Given the description of an element on the screen output the (x, y) to click on. 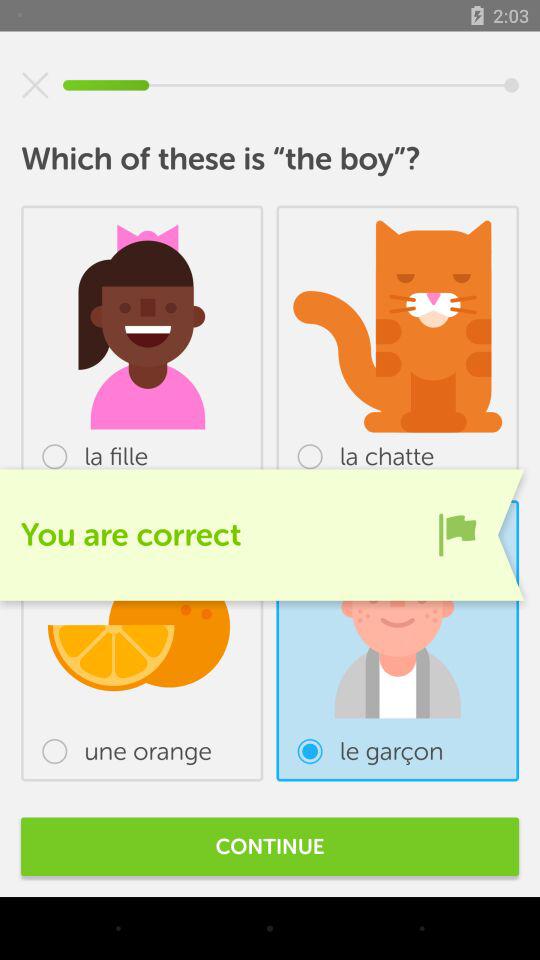
select continue (270, 846)
